Given the description of an element on the screen output the (x, y) to click on. 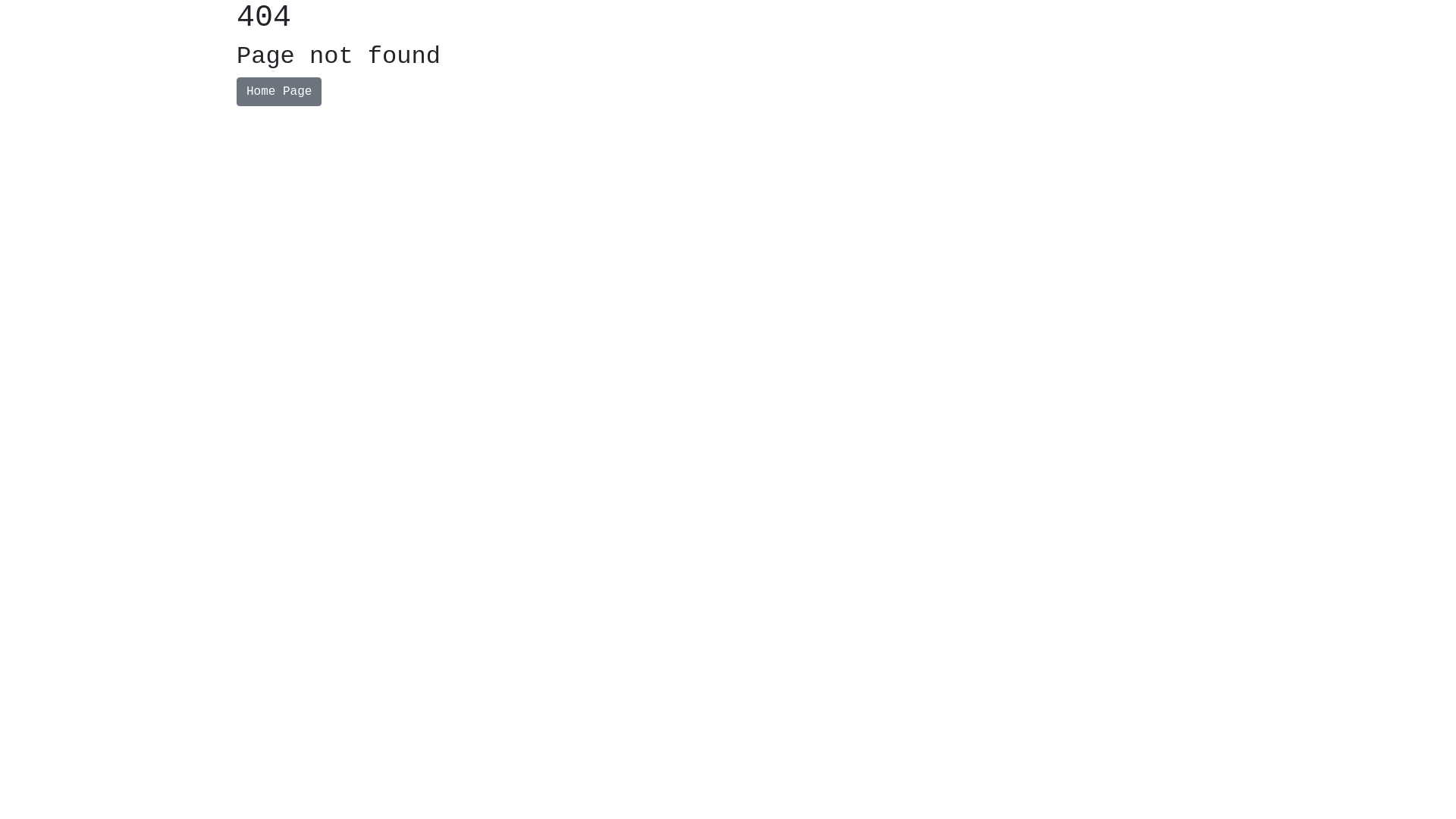
Home Page Element type: text (278, 91)
